Given the description of an element on the screen output the (x, y) to click on. 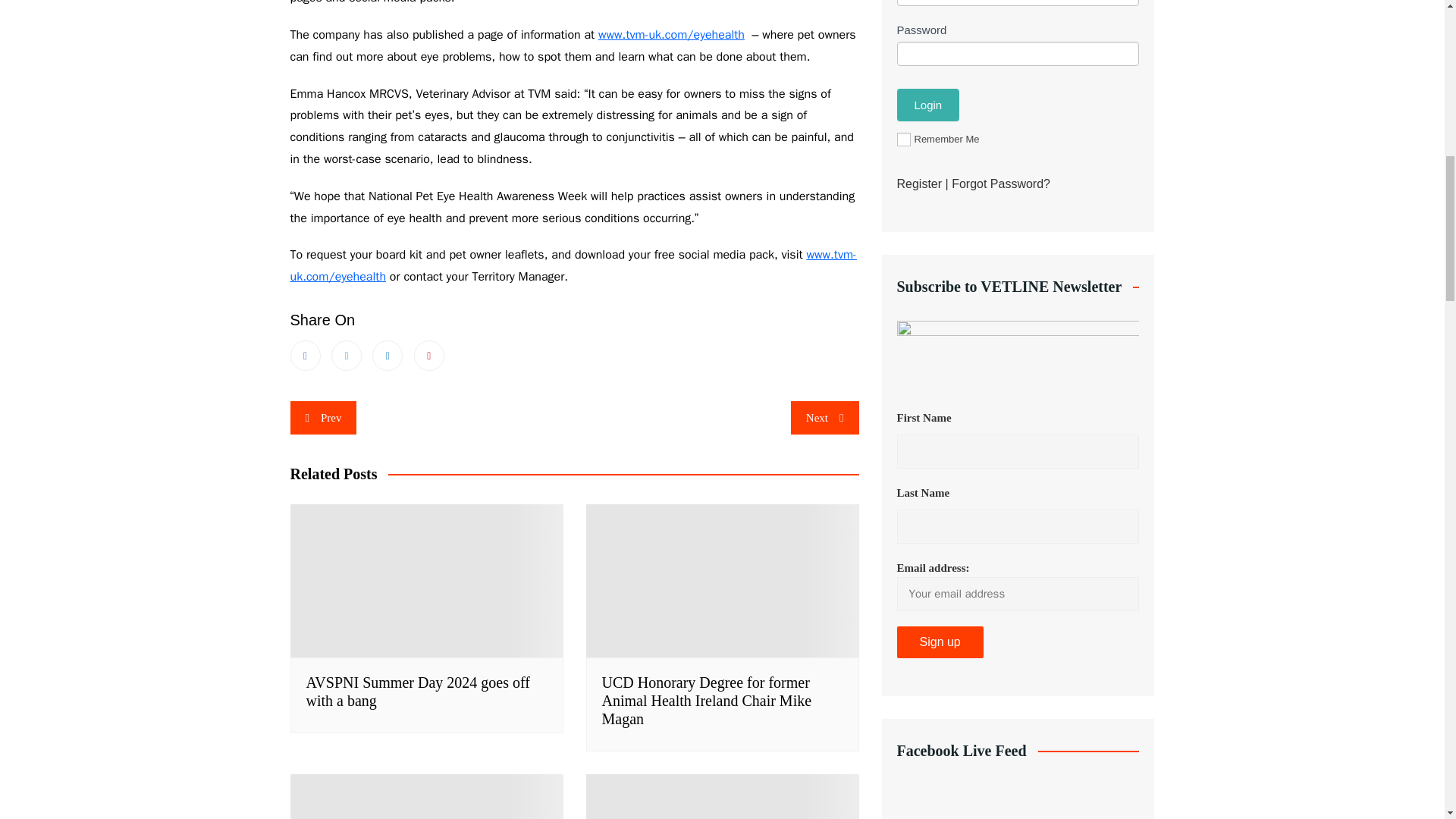
forever (903, 139)
Sign up (939, 642)
Login (927, 104)
